Given the description of an element on the screen output the (x, y) to click on. 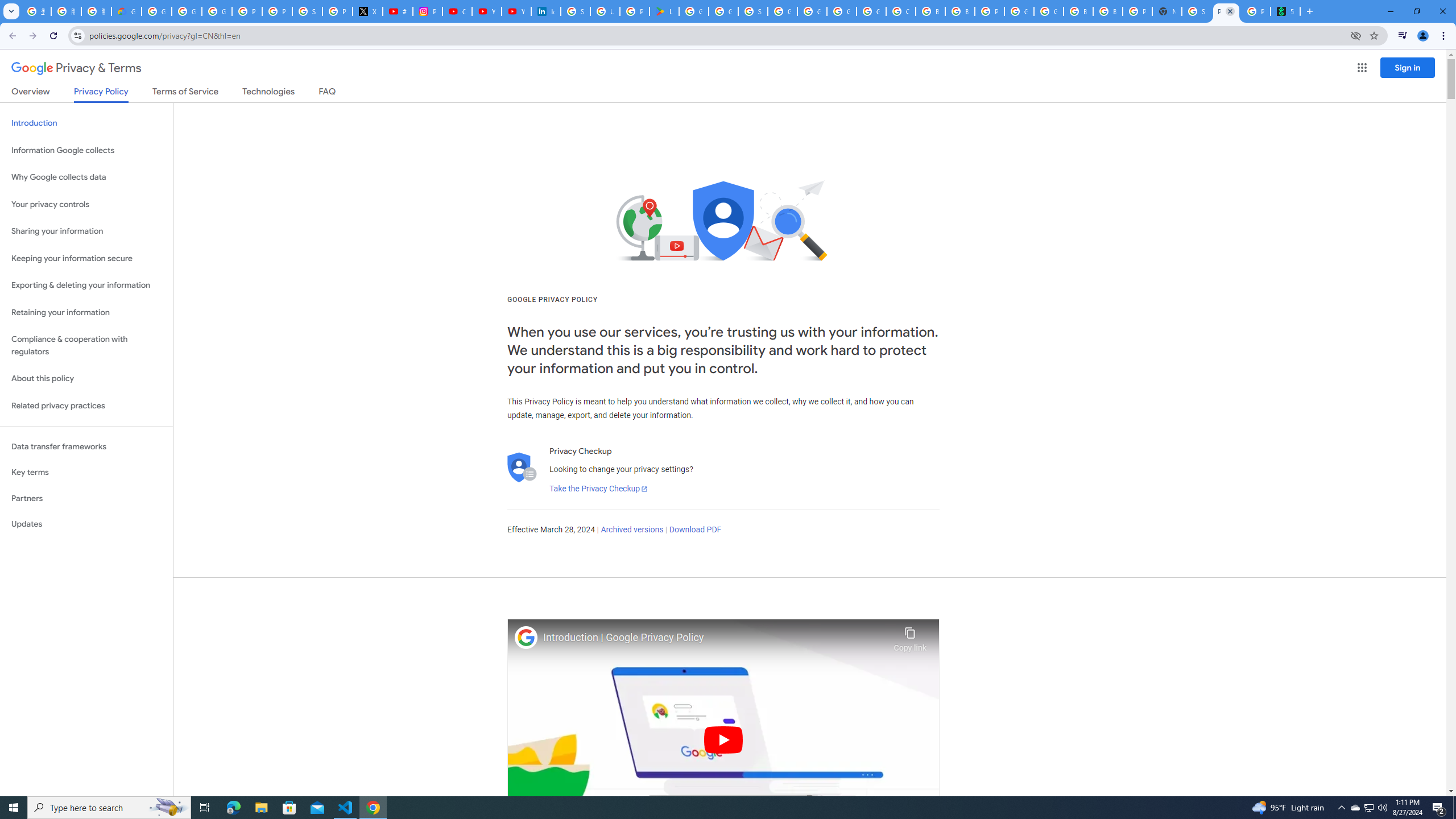
Privacy Help Center - Policies Help (277, 11)
Introduction | Google Privacy Policy (715, 637)
Information Google collects (86, 150)
X (367, 11)
Why Google collects data (86, 176)
Sign in - Google Accounts (1196, 11)
Play (723, 739)
